Given the description of an element on the screen output the (x, y) to click on. 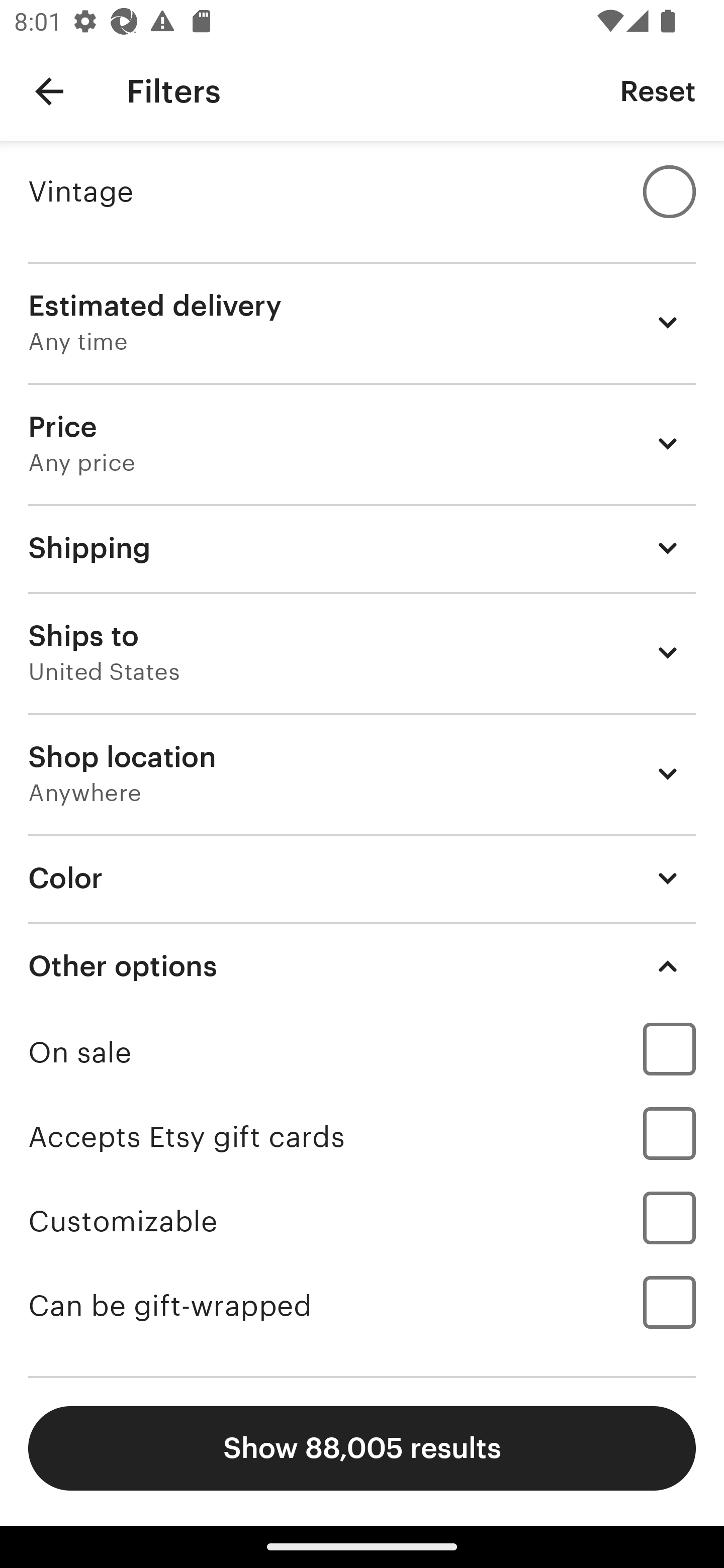
Navigate up (49, 91)
Reset (657, 90)
Vintage (362, 190)
Estimated delivery Any time (362, 321)
Price Any price (362, 442)
Shipping (362, 547)
Ships to United States (362, 652)
Shop location Anywhere (362, 773)
Color (362, 877)
Other options (362, 965)
On sale (362, 1051)
Accepts Etsy gift cards (362, 1136)
Customizable (362, 1221)
Can be gift-wrapped (362, 1305)
Show 88,005 results (361, 1448)
